Given the description of an element on the screen output the (x, y) to click on. 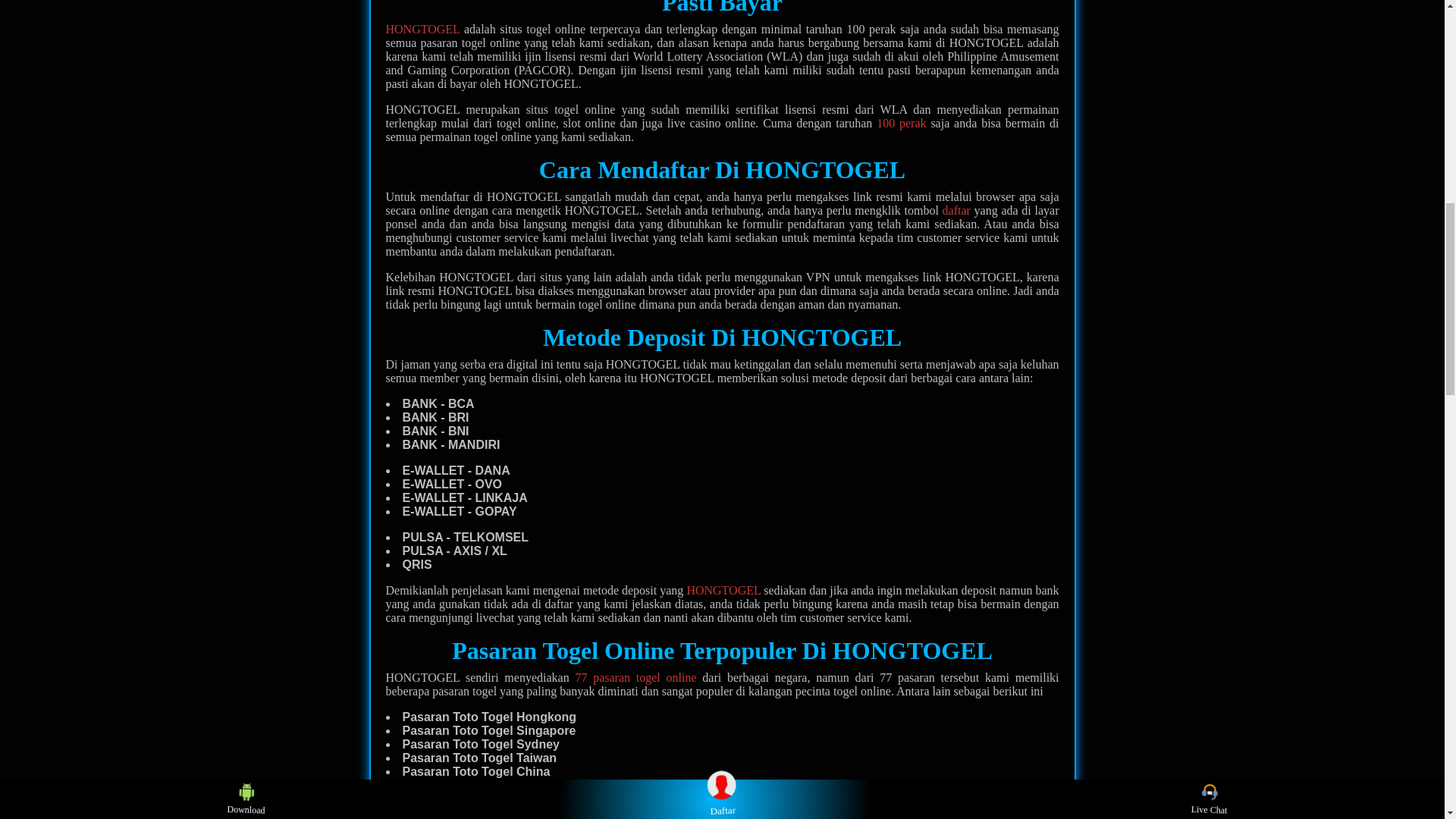
daftar (956, 210)
77 pasaran togel online (635, 676)
HONGTOGEL (422, 29)
100 perak (901, 123)
HONGTOGEL (722, 590)
